Given the description of an element on the screen output the (x, y) to click on. 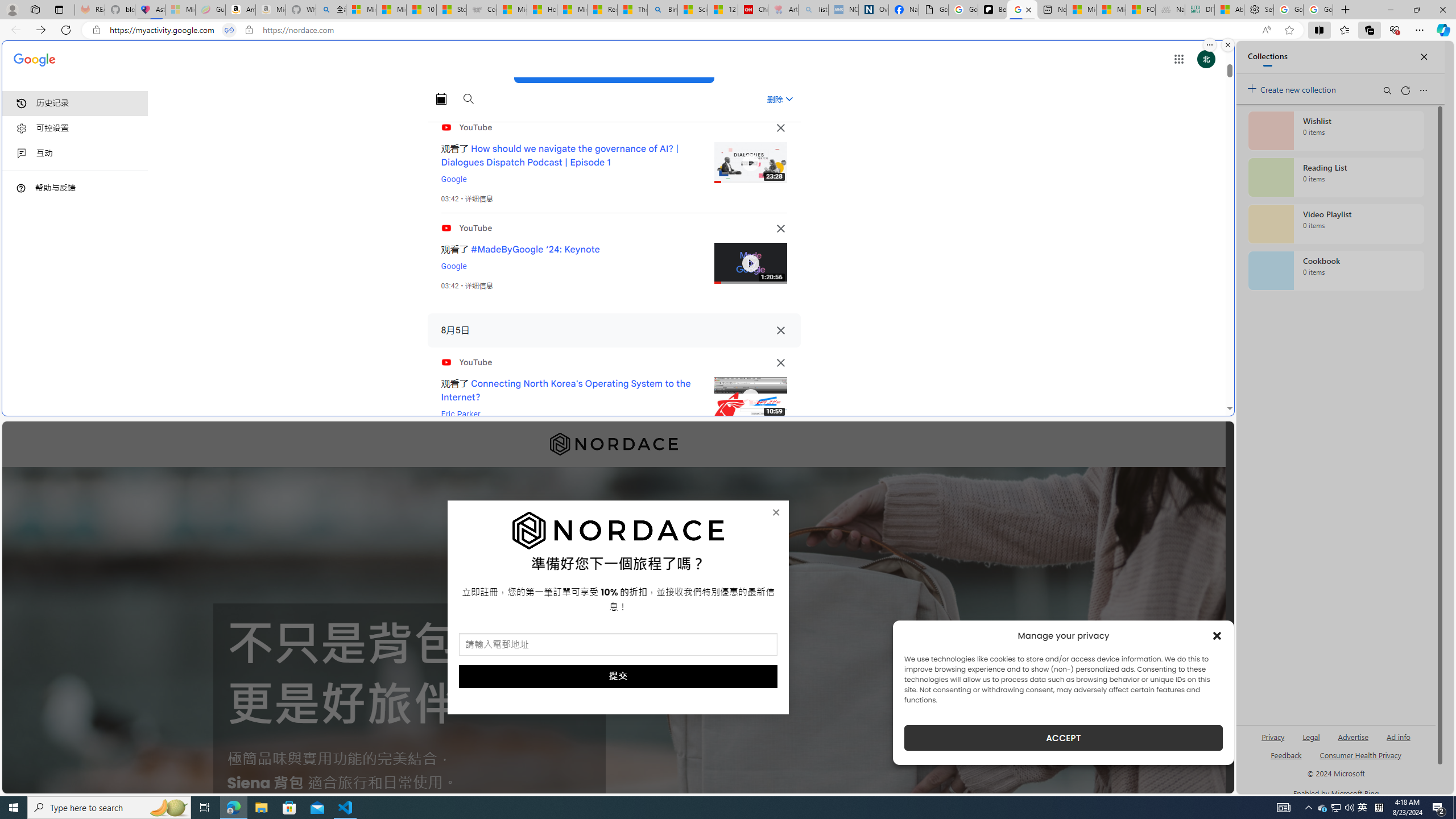
AutomationID: sb_feedback (1286, 754)
AutomationID: field_5_1 (617, 645)
